Given the description of an element on the screen output the (x, y) to click on. 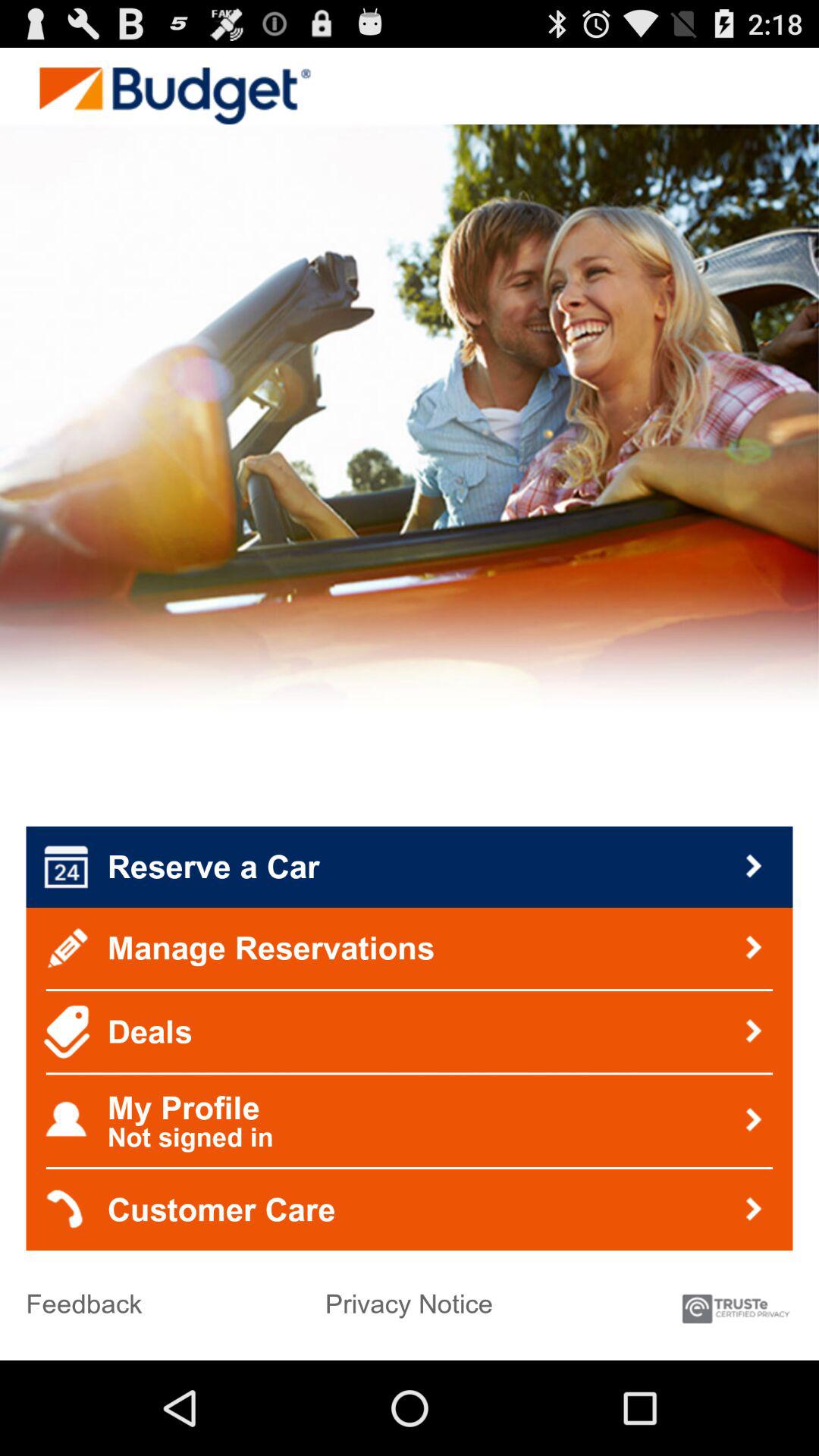
open the deals item (409, 1031)
